Given the description of an element on the screen output the (x, y) to click on. 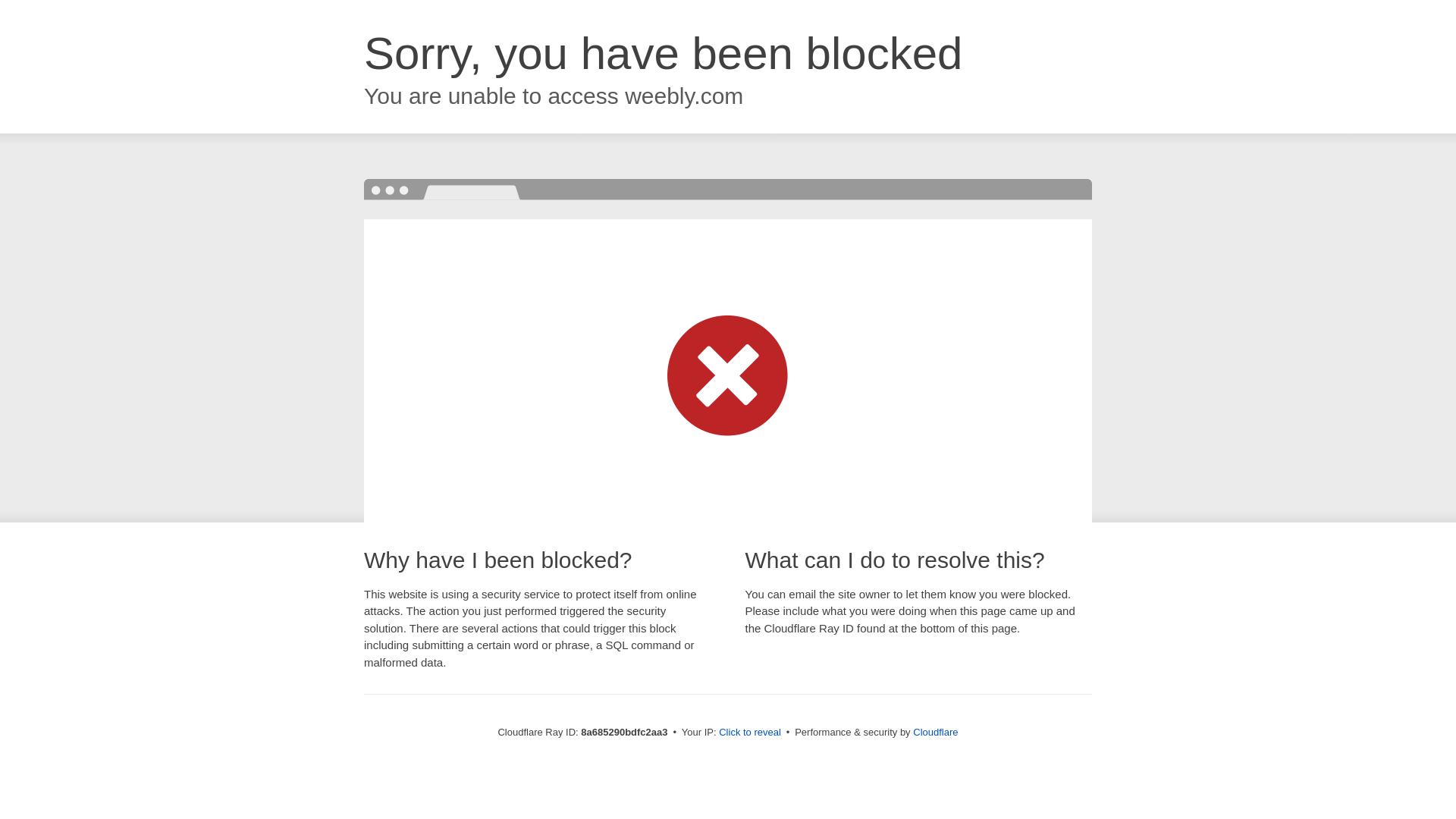
Click to reveal (749, 732)
Cloudflare (935, 731)
